Given the description of an element on the screen output the (x, y) to click on. 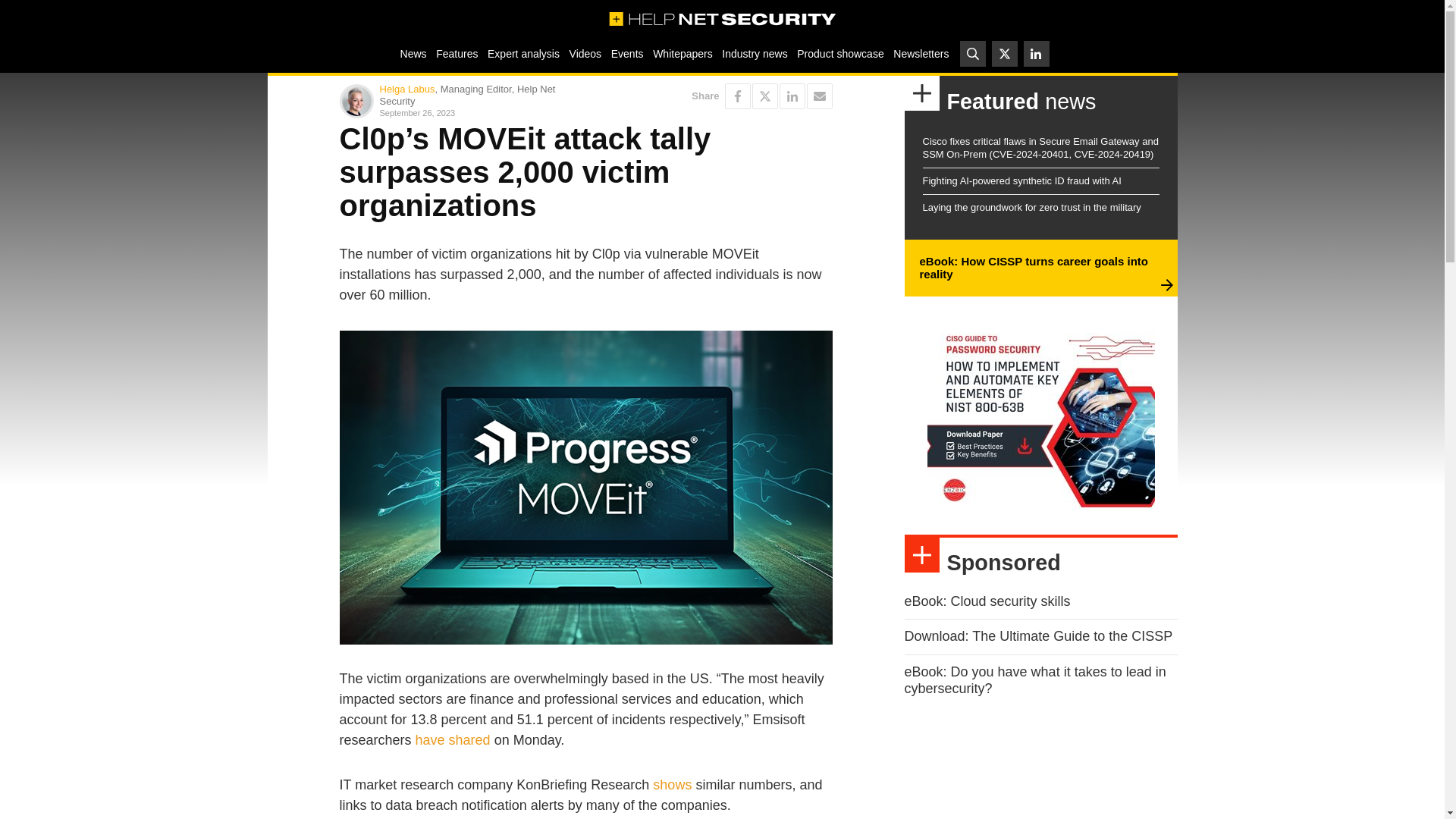
Features (456, 53)
Helga Labus (405, 89)
Expert analysis (523, 53)
News (412, 53)
have shared (452, 739)
Product showcase (840, 53)
shows (671, 784)
Newsletters (920, 53)
Videos (584, 53)
Events (626, 53)
September 26, 2023 (478, 112)
Industry news (754, 53)
Whitepapers (682, 53)
